Given the description of an element on the screen output the (x, y) to click on. 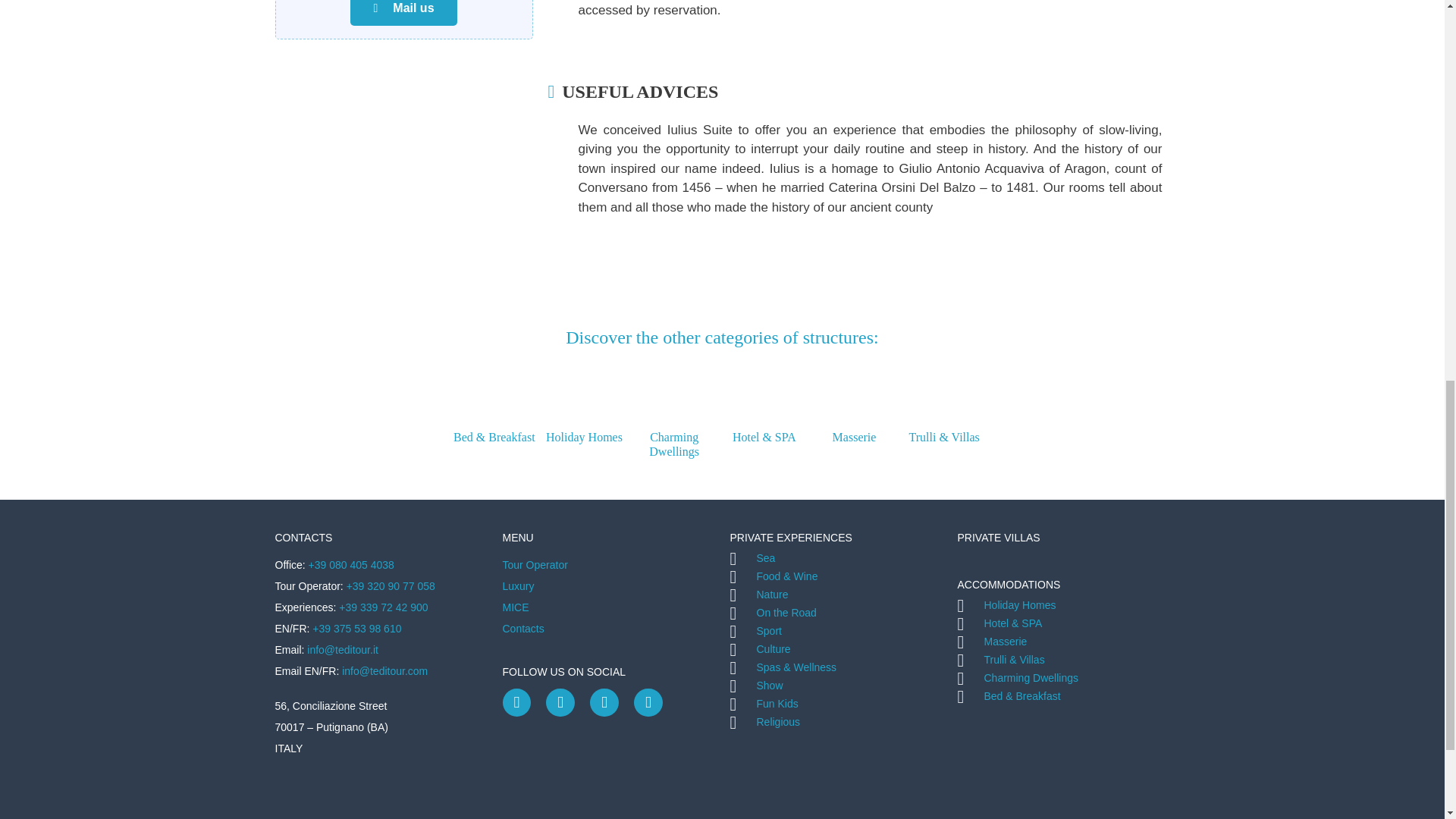
Mail us (403, 12)
Holiday Homes (584, 415)
Scroll back to top (1406, 720)
